Given the description of an element on the screen output the (x, y) to click on. 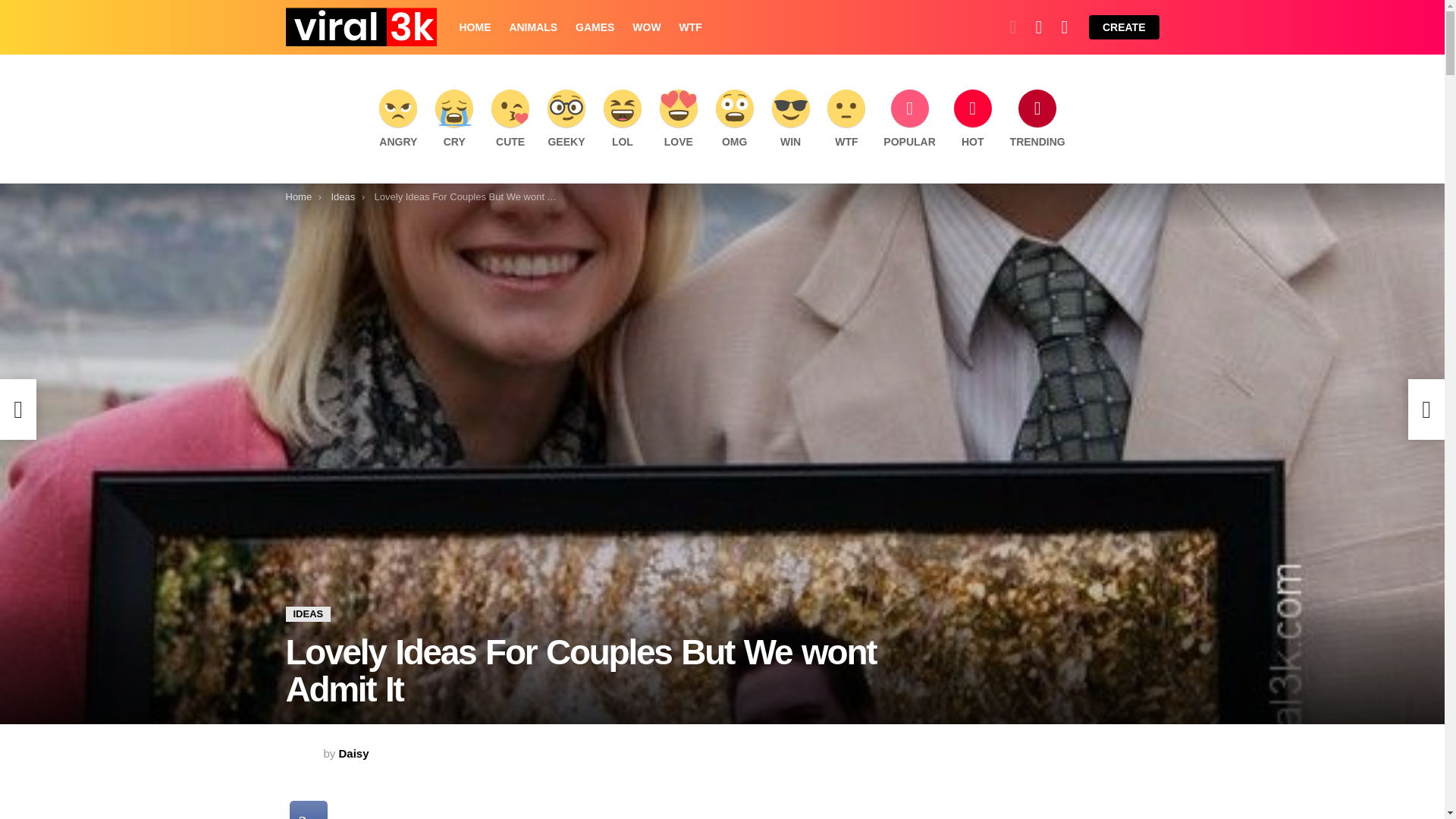
Home (298, 196)
CRY (454, 118)
CUTE (510, 118)
ANGRY (398, 118)
POPULAR (909, 118)
ANIMALS (532, 26)
GAMES (594, 26)
OMG (734, 118)
WIN (790, 118)
WTF (690, 26)
Share on Facebook (308, 809)
Ideas (342, 196)
WOW (646, 26)
HOT (972, 118)
Posts by Daisy (354, 753)
